Given the description of an element on the screen output the (x, y) to click on. 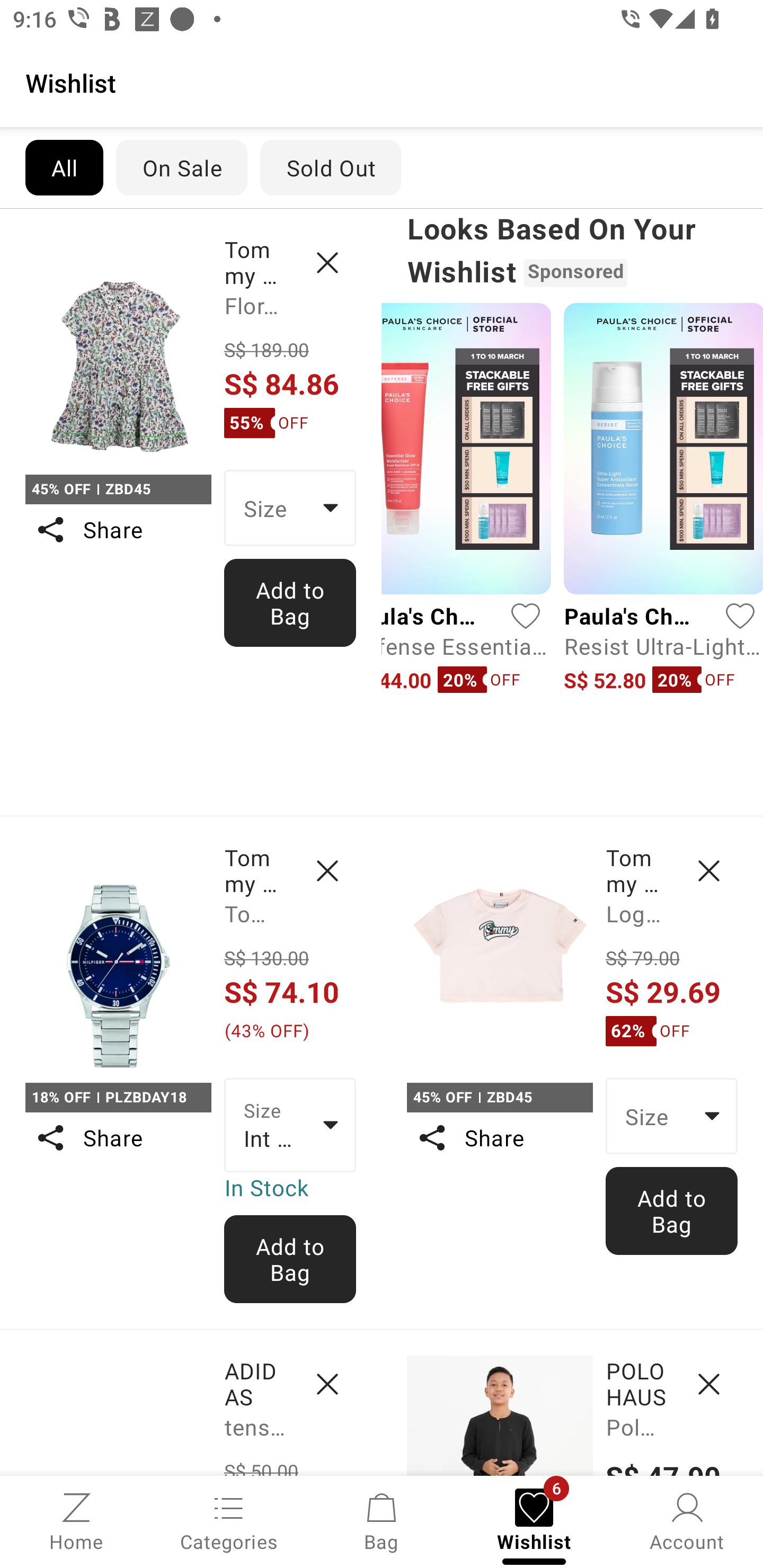
Wishlist (381, 82)
All (64, 167)
On Sale (181, 167)
Sold Out (330, 167)
Size (290, 507)
Share (118, 529)
Add to Bag (290, 602)
Size Int One Size (290, 1125)
Size (671, 1116)
Share (118, 1137)
Share (499, 1137)
Add to Bag (671, 1210)
Add to Bag (290, 1259)
Home (76, 1519)
Categories (228, 1519)
Bag (381, 1519)
Account (686, 1519)
